Given the description of an element on the screen output the (x, y) to click on. 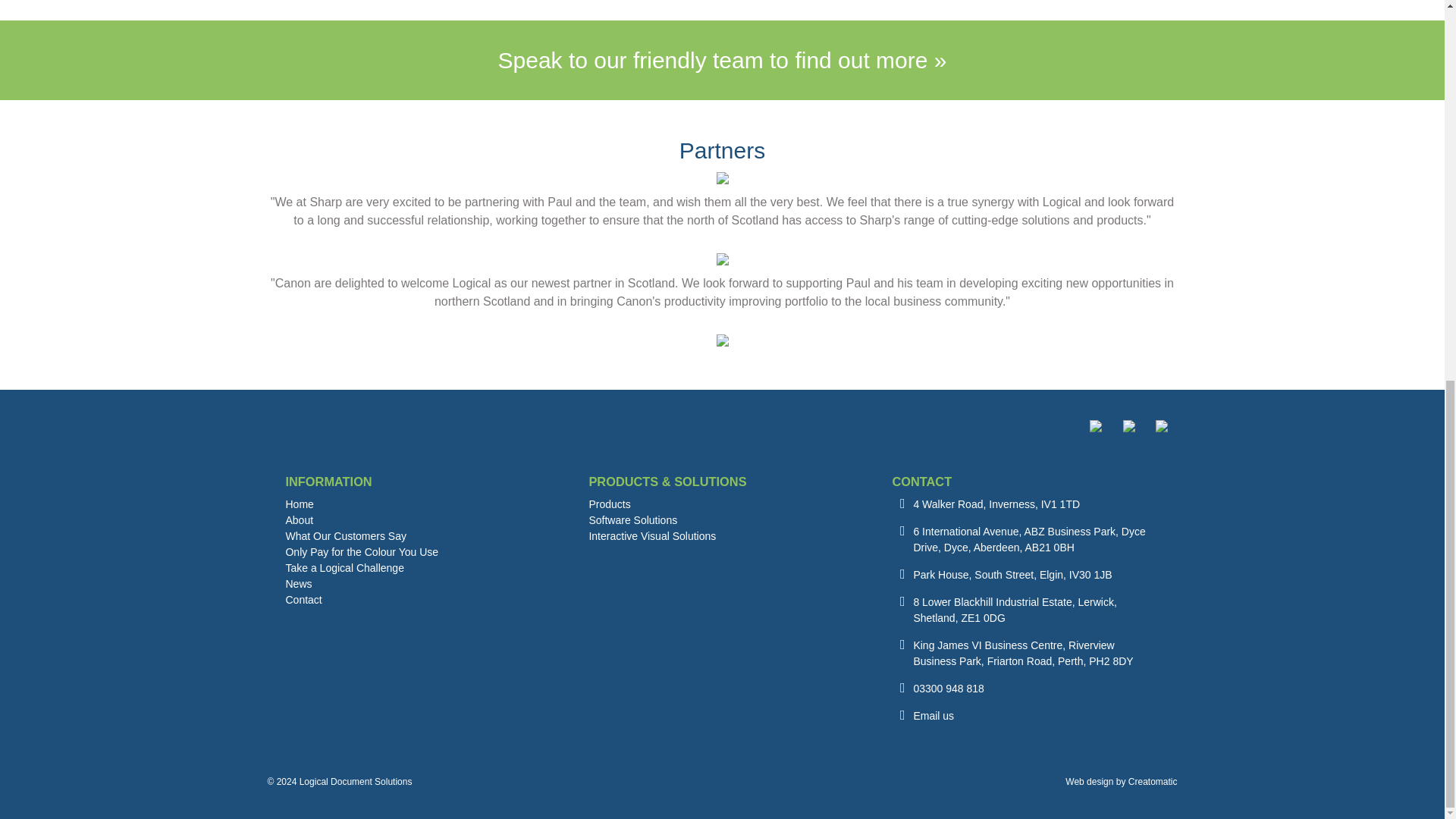
Creatomatic (1152, 781)
